Given the description of an element on the screen output the (x, y) to click on. 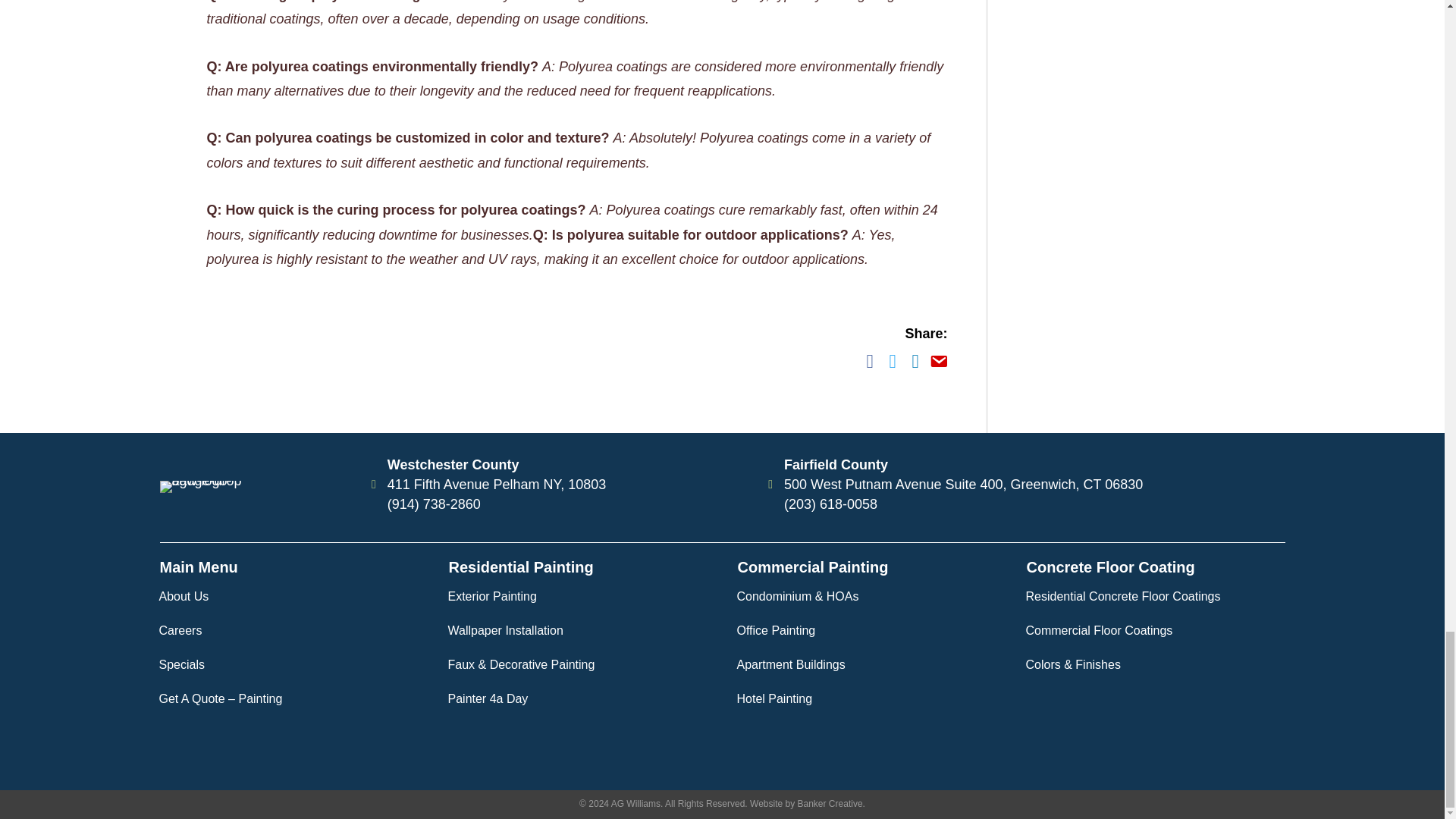
Residential Painting (521, 566)
Concrete Floor Coating (1110, 566)
agw-logo-badge-drop (215, 486)
Commercial Painting (812, 566)
